Given the description of an element on the screen output the (x, y) to click on. 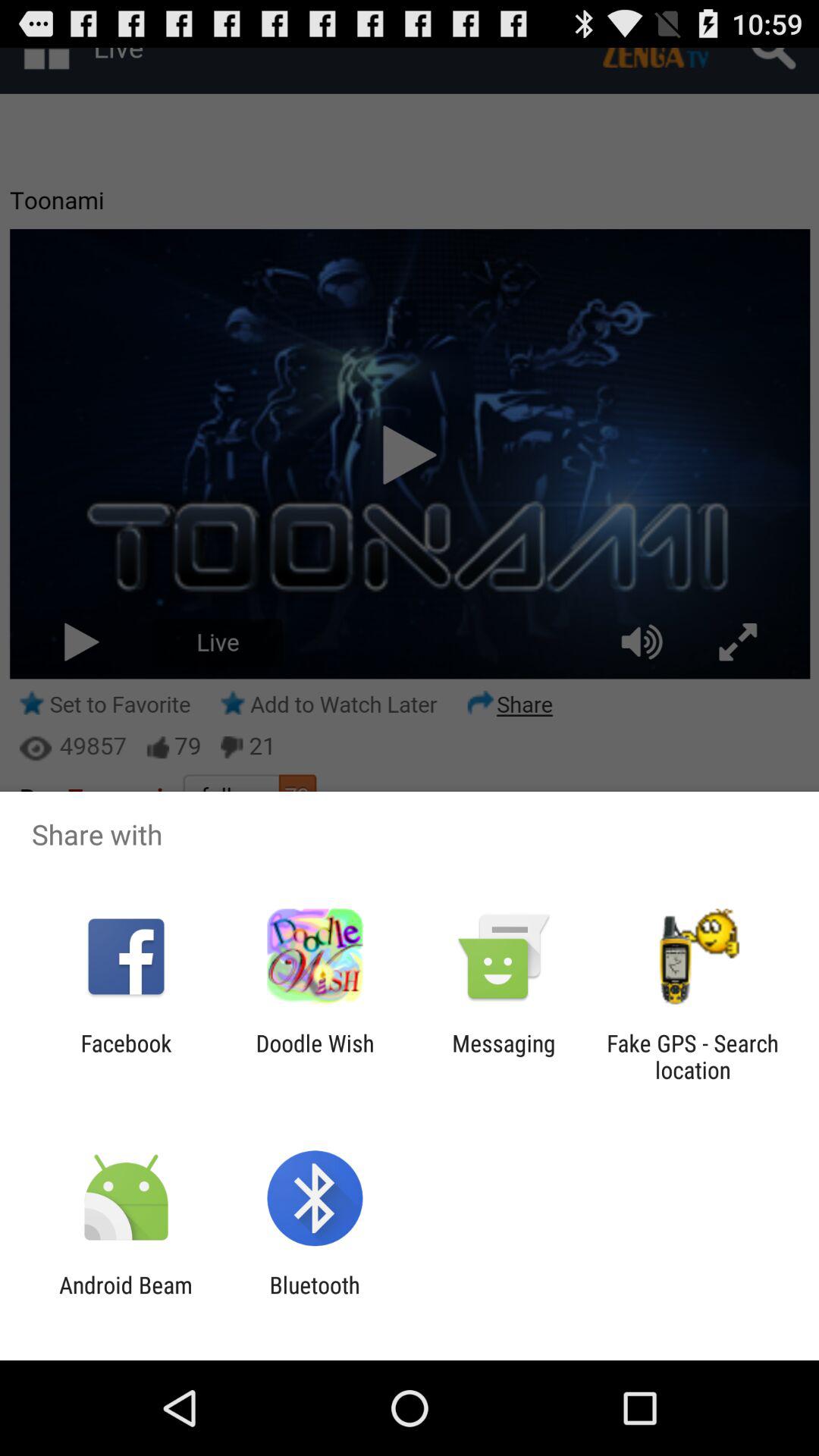
swipe until the bluetooth (314, 1298)
